Given the description of an element on the screen output the (x, y) to click on. 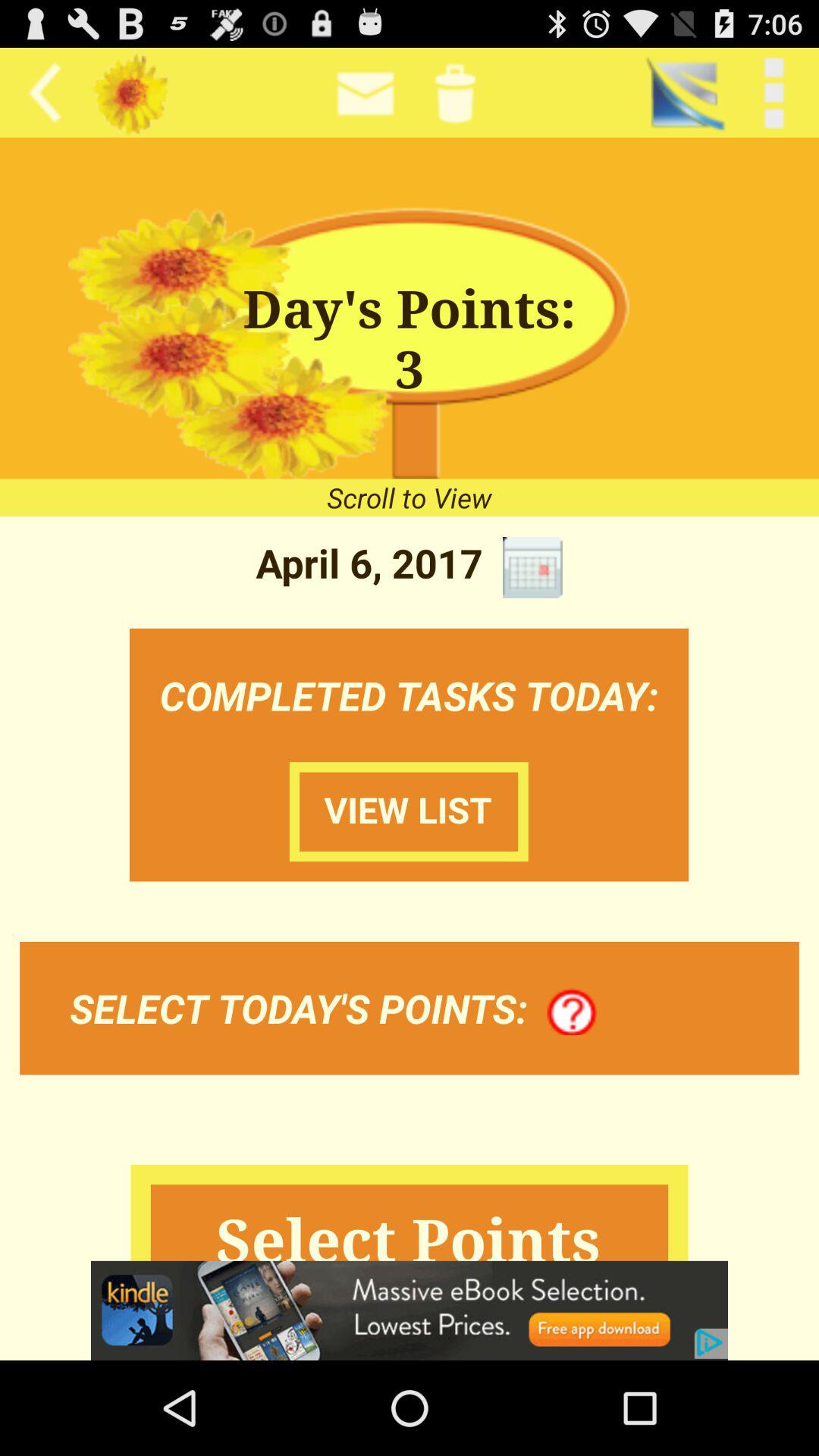
turn off item above the completed tasks today: item (532, 567)
